Given the description of an element on the screen output the (x, y) to click on. 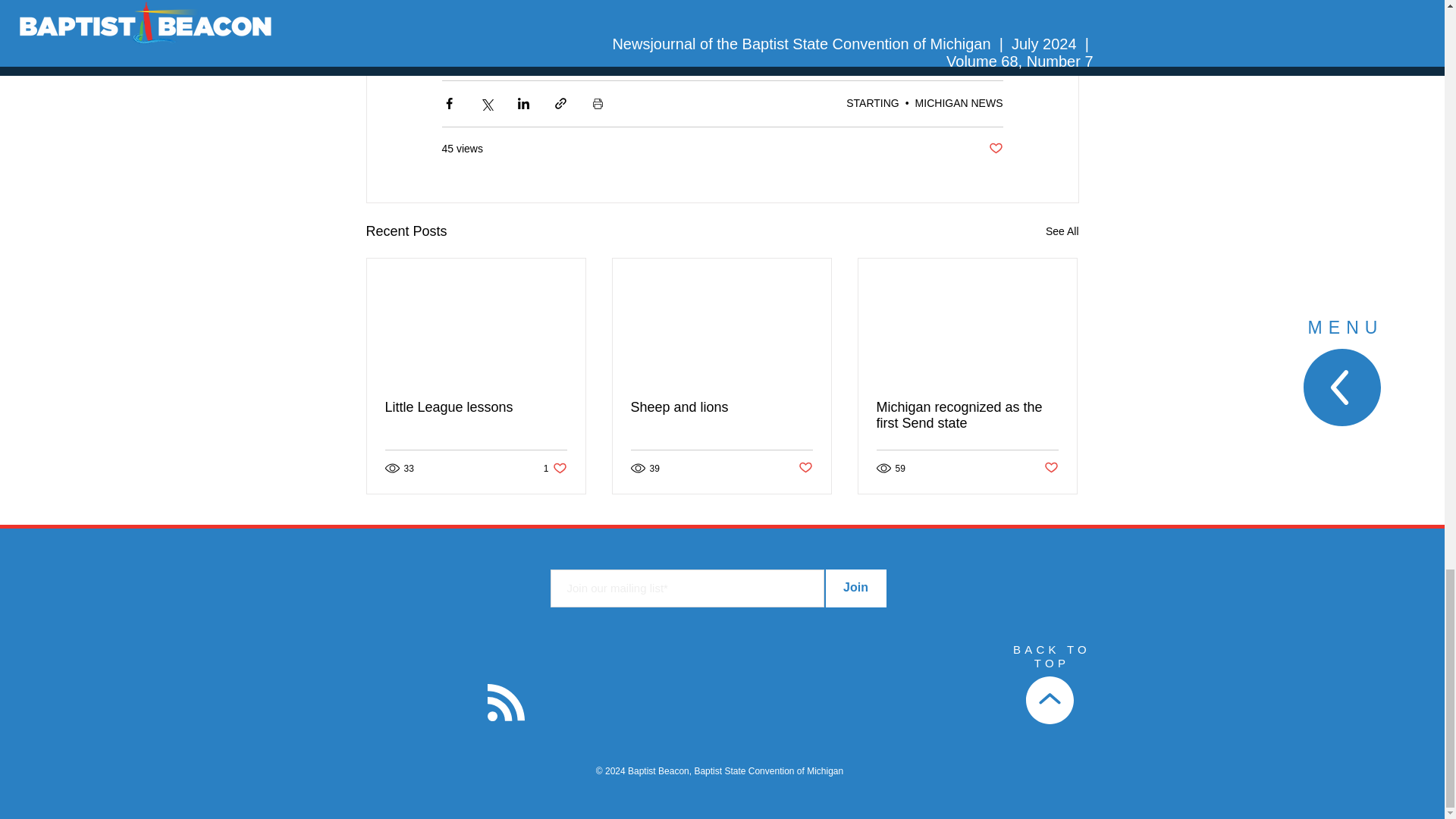
MICHIGAN NEWS (959, 102)
Post not marked as liked (995, 148)
Little League lessons (476, 407)
STARTING (872, 102)
Post not marked as liked (1050, 467)
See All (1061, 231)
Post not marked as liked (555, 468)
Sheep and lions (804, 467)
Join (721, 407)
Michigan recognized as the first Send state (855, 588)
